Given the description of an element on the screen output the (x, y) to click on. 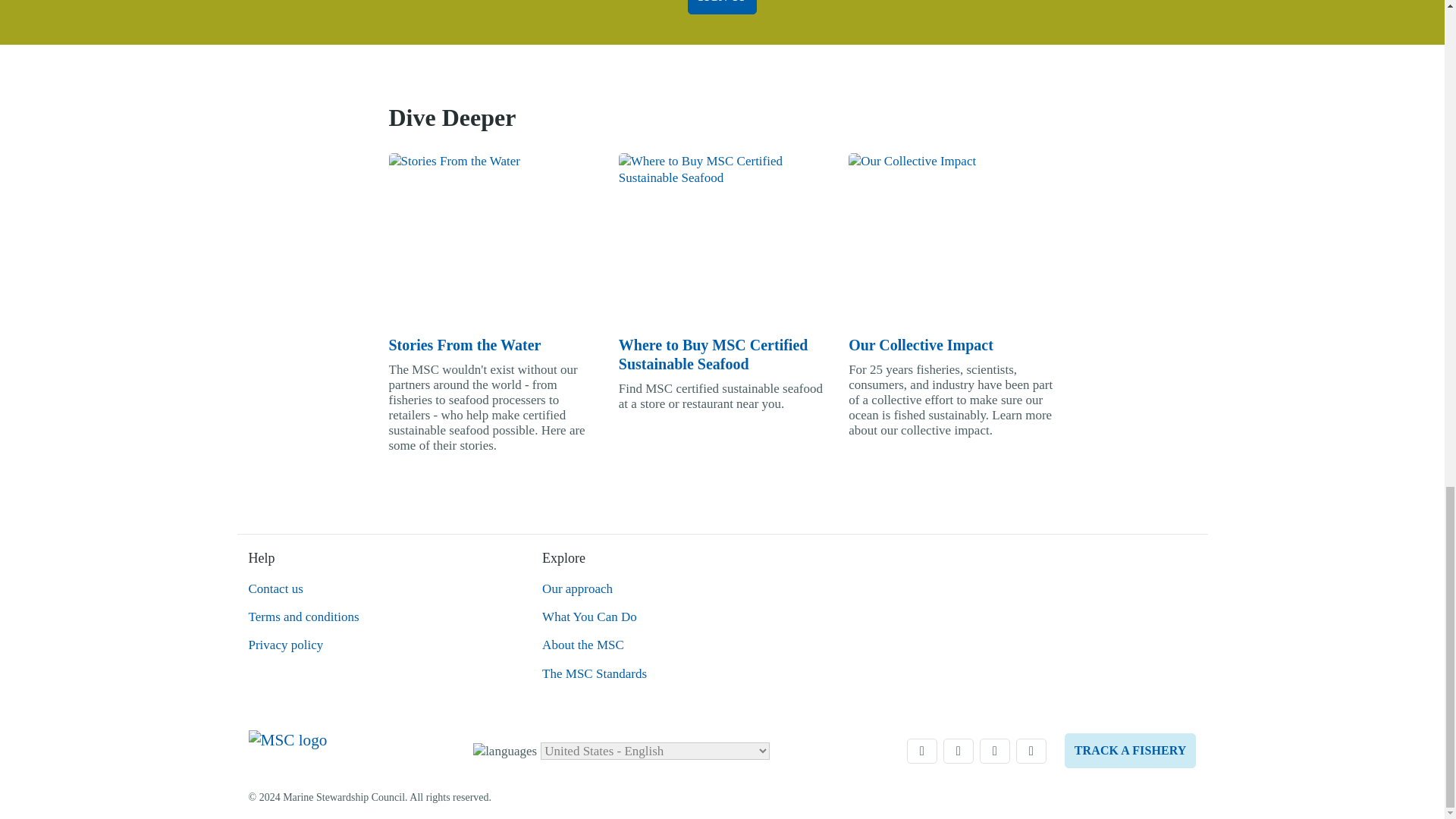
Instagram (1031, 750)
LinkedIn (922, 750)
Twitter (958, 750)
Facebook (994, 750)
